Given the description of an element on the screen output the (x, y) to click on. 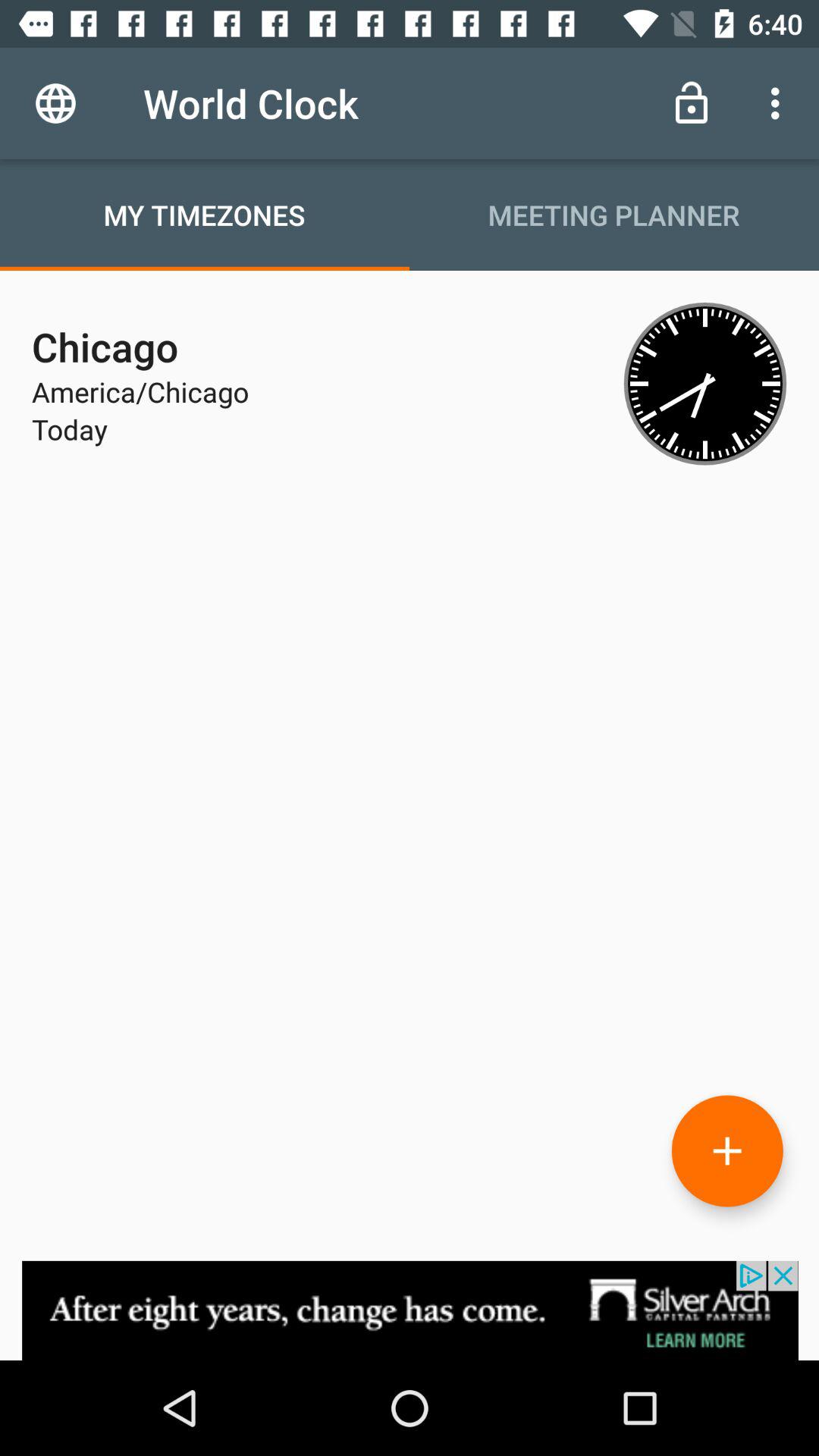
add a new clock (727, 1150)
